Given the description of an element on the screen output the (x, y) to click on. 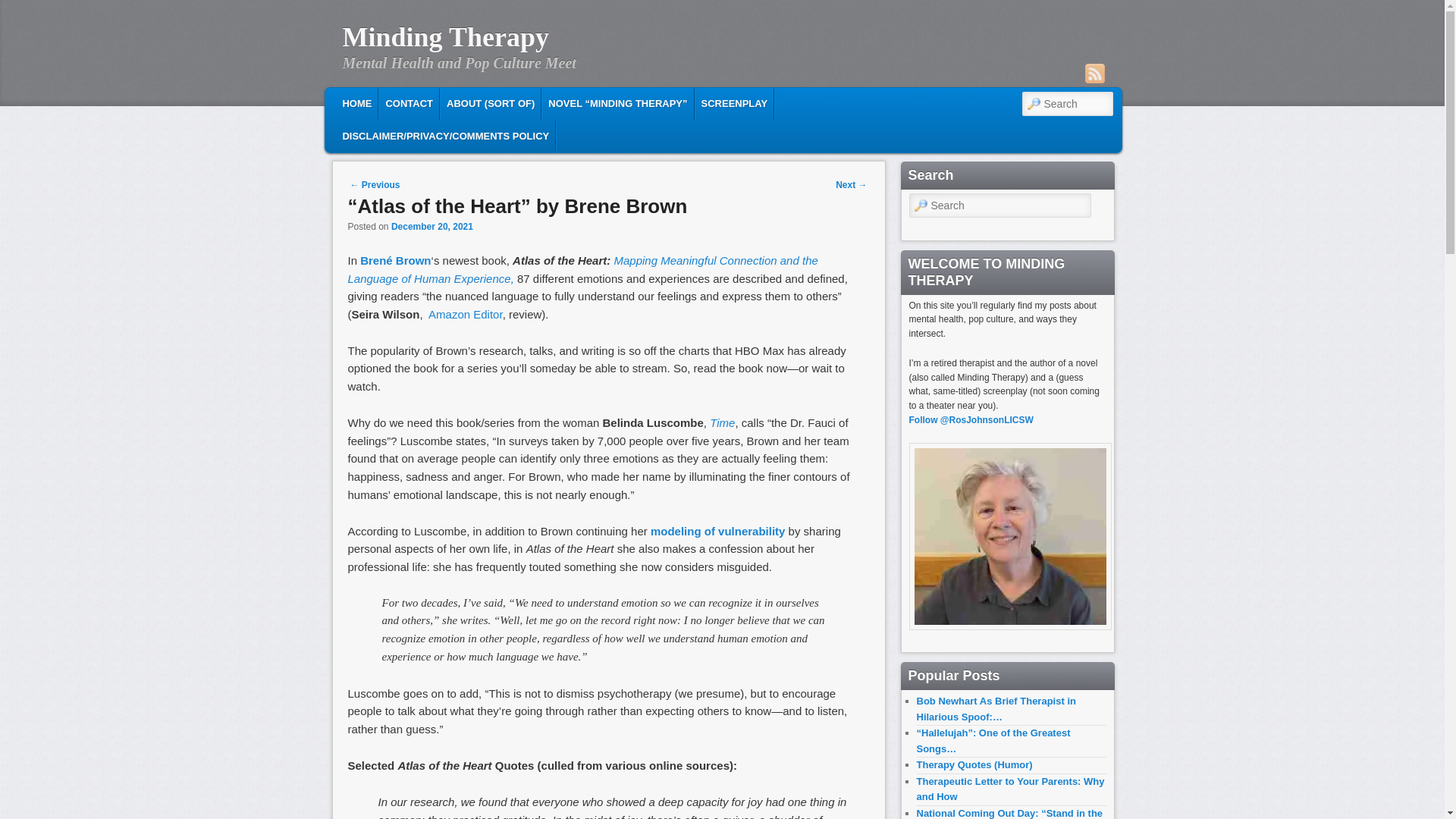
Time (722, 422)
SCREENPLAY (734, 103)
Search (24, 8)
Minding Therapy (445, 37)
Amazon Editor (465, 314)
modeling of vulnerability (718, 530)
December 20, 2021 (432, 226)
Minding Therapy (445, 37)
HOME (356, 103)
CONTACT (408, 103)
Skip to secondary content (432, 102)
9:00 AM (432, 226)
SKIP TO SECONDARY CONTENT (432, 102)
RSS (1093, 73)
